Given the description of an element on the screen output the (x, y) to click on. 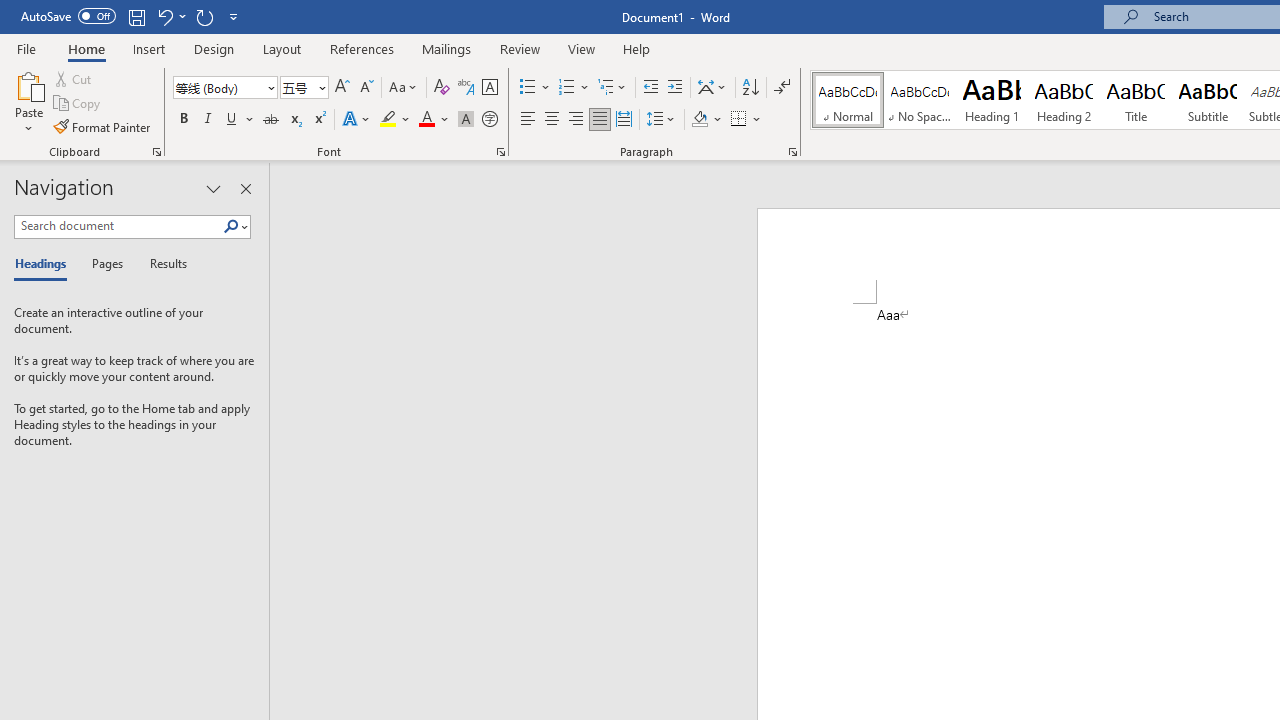
Borders (739, 119)
Change Case (404, 87)
Bullets (535, 87)
System (10, 11)
Center (552, 119)
Mailings (447, 48)
Search (231, 227)
Font (218, 87)
Character Border (489, 87)
Phonetic Guide... (465, 87)
Line and Paragraph Spacing (661, 119)
Heading 1 (991, 100)
Task Pane Options (214, 188)
Copy (78, 103)
Results (161, 264)
